Given the description of an element on the screen output the (x, y) to click on. 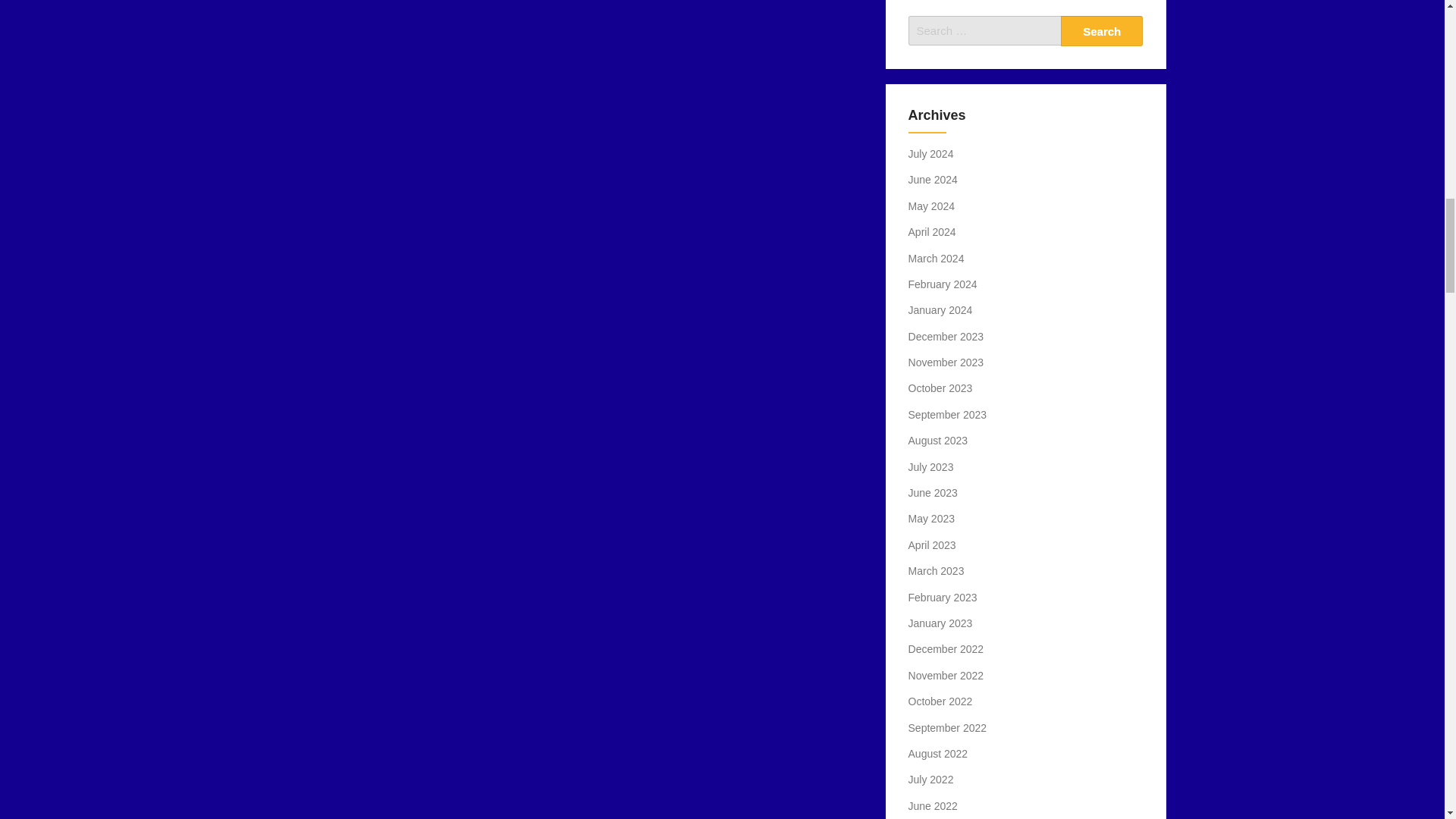
March 2024 (935, 258)
Search (1101, 30)
July 2024 (930, 153)
February 2024 (942, 284)
May 2024 (931, 205)
June 2024 (933, 179)
January 2024 (940, 309)
April 2024 (932, 232)
Search (1101, 30)
Search (1101, 30)
December 2023 (946, 336)
